Given the description of an element on the screen output the (x, y) to click on. 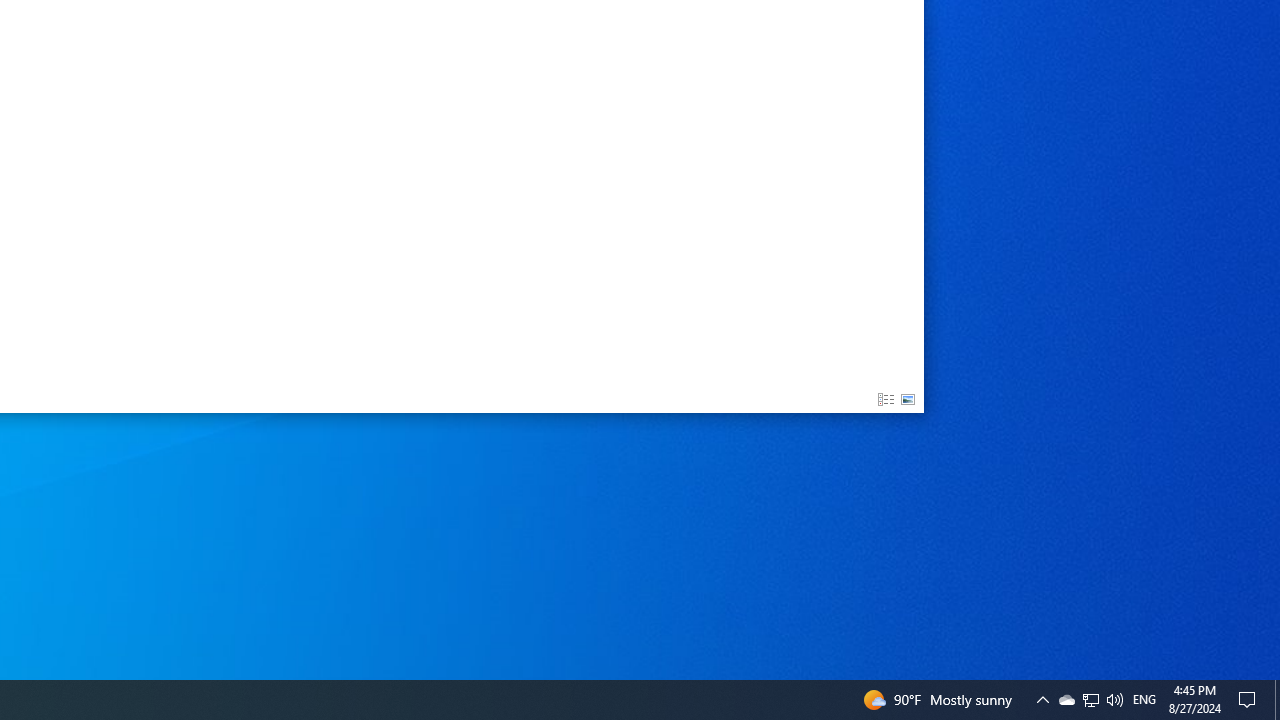
Large Icons (908, 399)
Q2790: 100% (1114, 699)
User Promoted Notification Area (1090, 699)
Tray Input Indicator - English (United States) (1091, 699)
Show desktop (1144, 699)
Details (1277, 699)
Notification Chevron (1066, 699)
Action Center, No new notifications (886, 399)
